Given the description of an element on the screen output the (x, y) to click on. 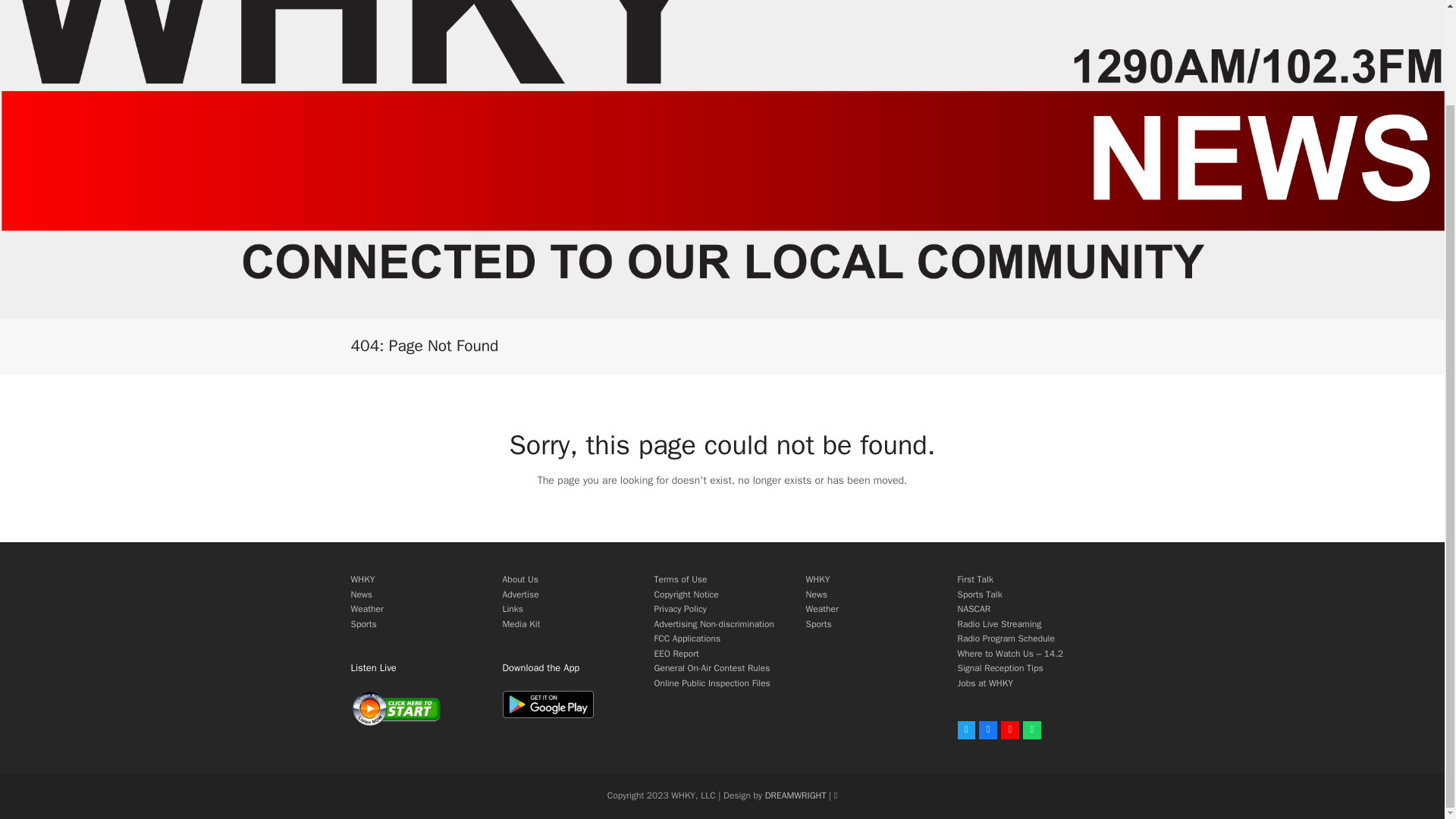
Sports Talk (978, 594)
Listen Live (395, 708)
Spotify (1032, 730)
Spotify (1032, 730)
NASCAR (973, 608)
About Us (519, 579)
News (816, 594)
Signal Reception Tips (999, 667)
Weather (366, 608)
Links (512, 608)
